Given the description of an element on the screen output the (x, y) to click on. 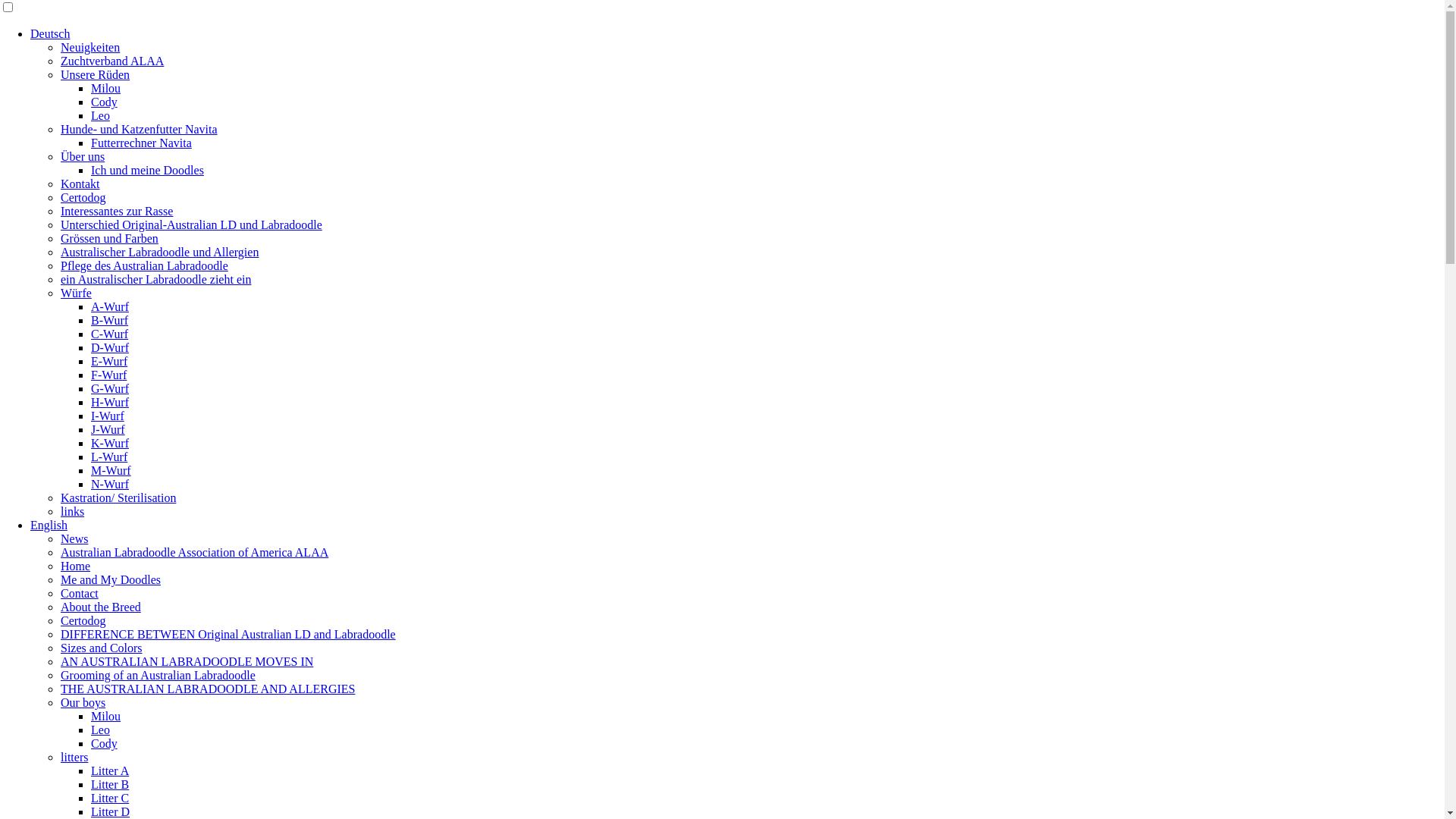
News Element type: text (73, 538)
THE AUSTRALIAN LABRADOODLE AND ALLERGIES Element type: text (207, 688)
Australischer Labradoodle und Allergien Element type: text (159, 251)
Litter A Element type: text (109, 770)
M-Wurf Element type: text (111, 470)
Sizes and Colors Element type: text (101, 647)
Certodog Element type: text (83, 197)
Neuigkeiten Element type: text (89, 46)
Certodog Element type: text (83, 620)
L-Wurf Element type: text (109, 456)
Milou Element type: text (105, 715)
N-Wurf Element type: text (109, 483)
I-Wurf Element type: text (107, 415)
Australian Labradoodle Association of America ALAA Element type: text (194, 552)
Leo Element type: text (100, 729)
Grooming of an Australian Labradoodle Element type: text (157, 674)
AN AUSTRALIAN LABRADOODLE MOVES IN Element type: text (186, 661)
Home Element type: text (75, 565)
F-Wurf Element type: text (108, 374)
Our boys Element type: text (82, 702)
litters Element type: text (73, 756)
Me and My Doodles Element type: text (110, 579)
A-Wurf Element type: text (109, 306)
Litter B Element type: text (109, 784)
About the Breed Element type: text (100, 606)
DIFFERENCE BETWEEN Original Australian LD and Labradoodle Element type: text (227, 633)
E-Wurf Element type: text (109, 360)
Interessantes zur Rasse Element type: text (116, 210)
Litter C Element type: text (109, 797)
Unterschied Original-Australian LD und Labradoodle Element type: text (191, 224)
Milou Element type: text (105, 87)
links Element type: text (72, 511)
Deutsch Element type: text (49, 33)
B-Wurf Element type: text (109, 319)
J-Wurf Element type: text (108, 429)
Ich und meine Doodles Element type: text (147, 169)
Leo Element type: text (100, 115)
G-Wurf Element type: text (109, 388)
Futterrechner Navita Element type: text (141, 142)
Cody Element type: text (104, 743)
English Element type: text (48, 524)
Cody Element type: text (104, 101)
D-Wurf Element type: text (109, 347)
Kastration/ Sterilisation Element type: text (117, 497)
ein Australischer Labradoodle zieht ein Element type: text (155, 279)
C-Wurf Element type: text (109, 333)
Zuchtverband ALAA Element type: text (111, 60)
Litter D Element type: text (110, 811)
Hunde- und Katzenfutter Navita Element type: text (138, 128)
Kontakt Element type: text (80, 183)
H-Wurf Element type: text (109, 401)
Contact Element type: text (79, 592)
K-Wurf Element type: text (109, 442)
Pflege des Australian Labradoodle Element type: text (144, 265)
